Given the description of an element on the screen output the (x, y) to click on. 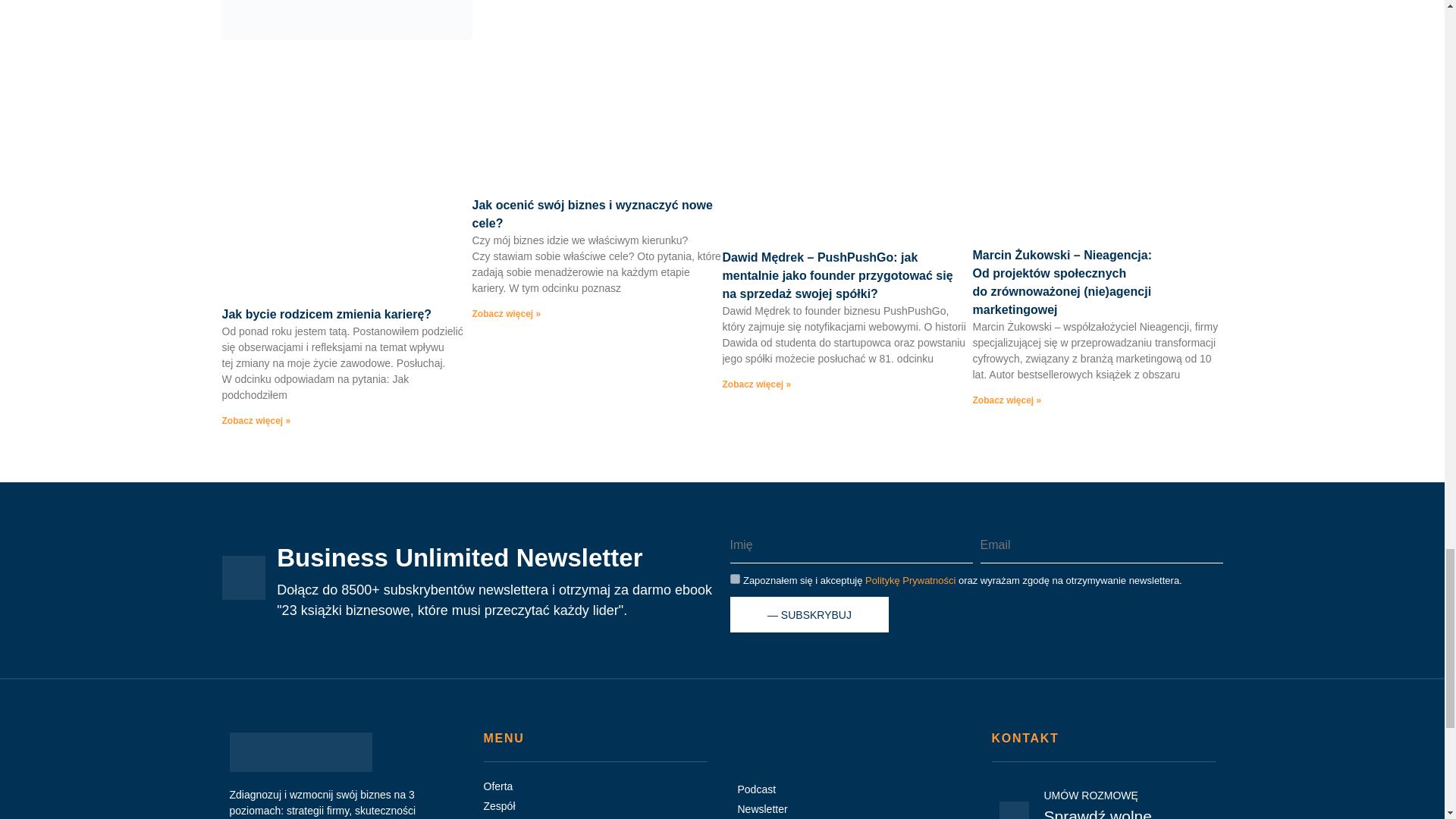
on (734, 578)
